Given the description of an element on the screen output the (x, y) to click on. 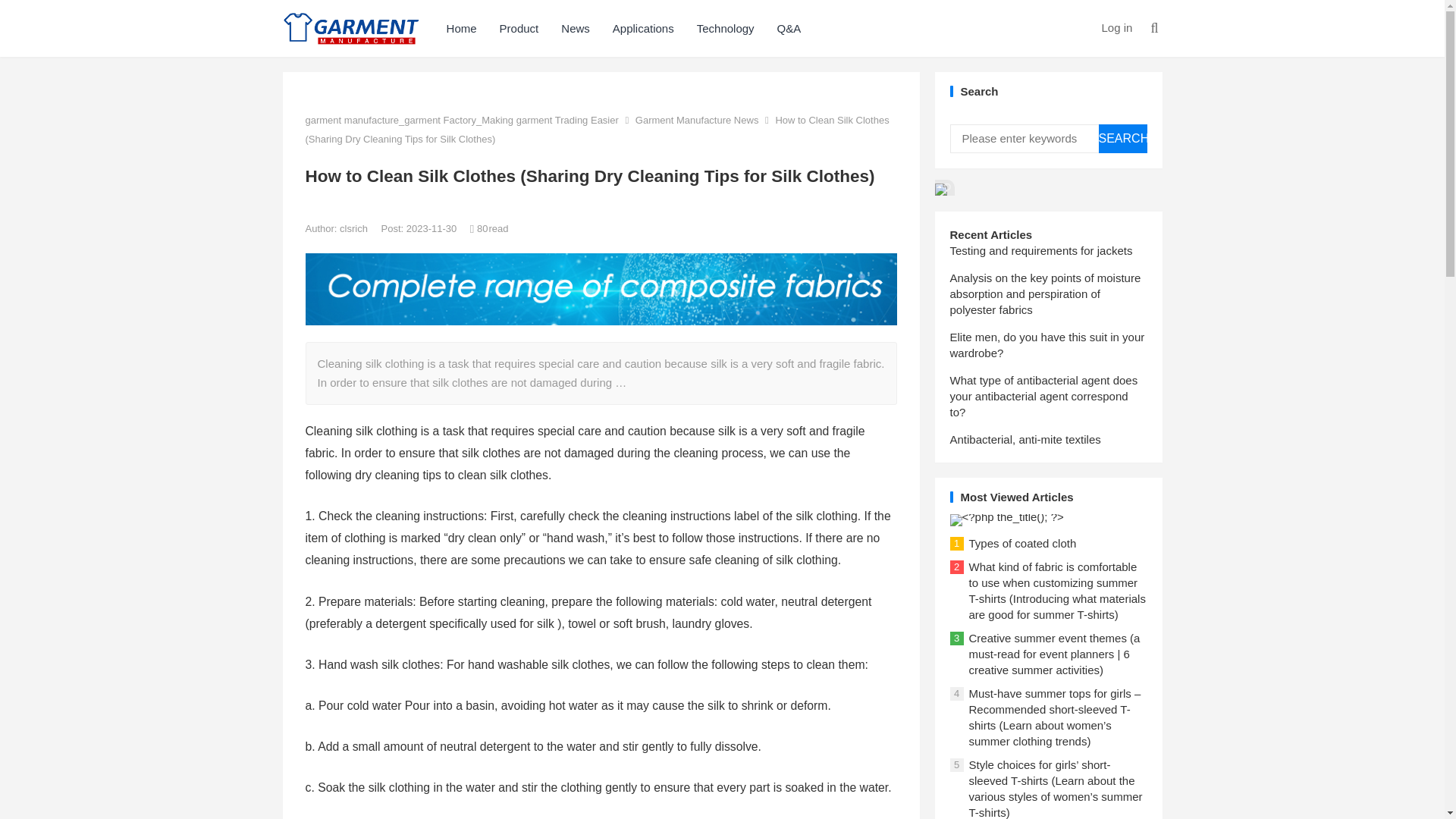
Garment Manufacture News (696, 119)
Technology (725, 28)
clsrich (354, 228)
Log in (1116, 27)
News (575, 28)
Product (518, 28)
Home (461, 28)
Applications (643, 28)
SEARCH (1122, 138)
Log in (1116, 27)
